Given the description of an element on the screen output the (x, y) to click on. 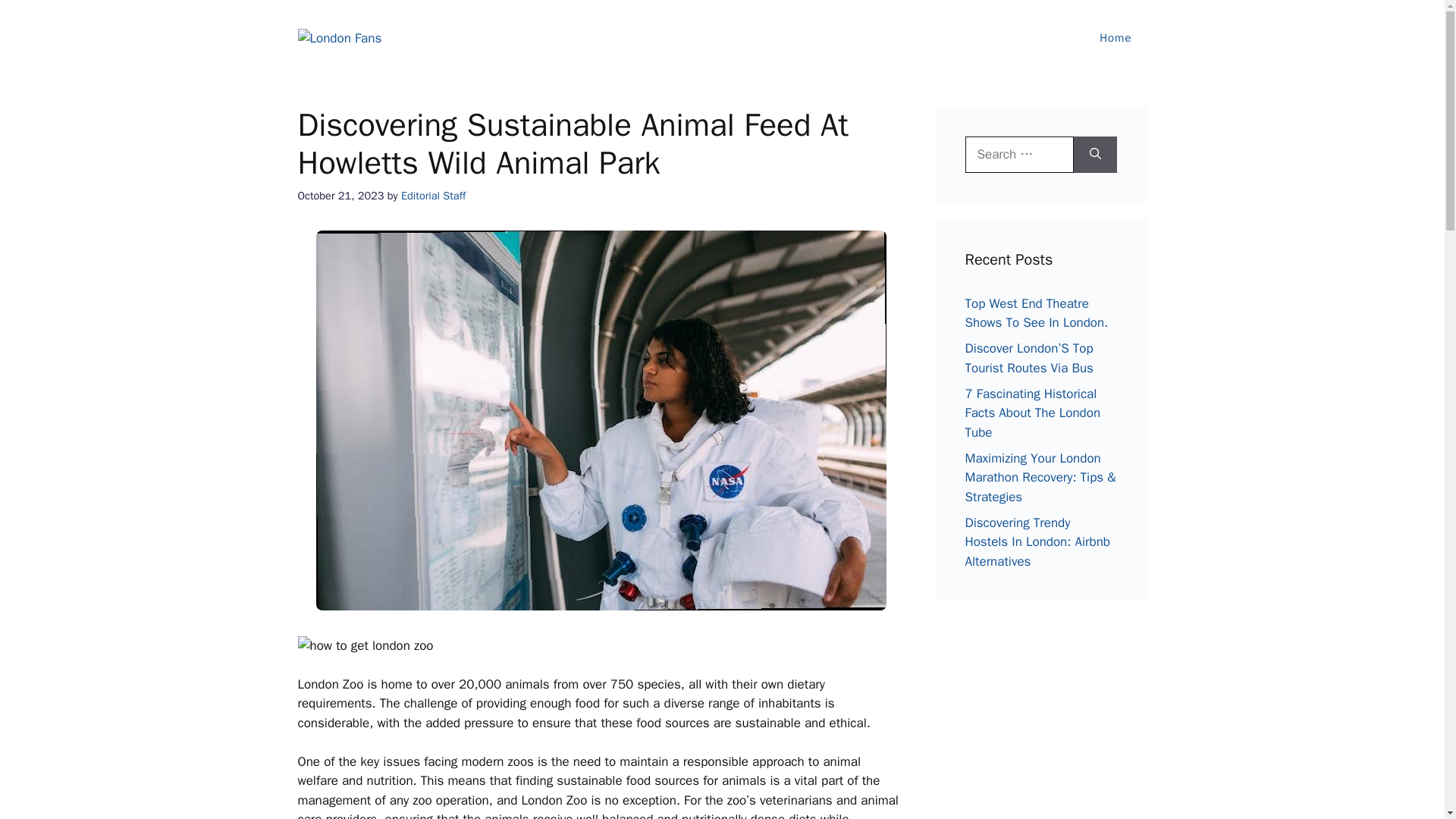
Discovering Trendy Hostels In London: Airbnb Alternatives (1036, 541)
Search for: (1018, 154)
View all posts by Editorial Staff (433, 195)
7 Fascinating Historical Facts About The London Tube (1031, 411)
Editorial Staff (433, 195)
Home (1115, 37)
Top West End Theatre Shows To See In London. (1035, 313)
